Given the description of an element on the screen output the (x, y) to click on. 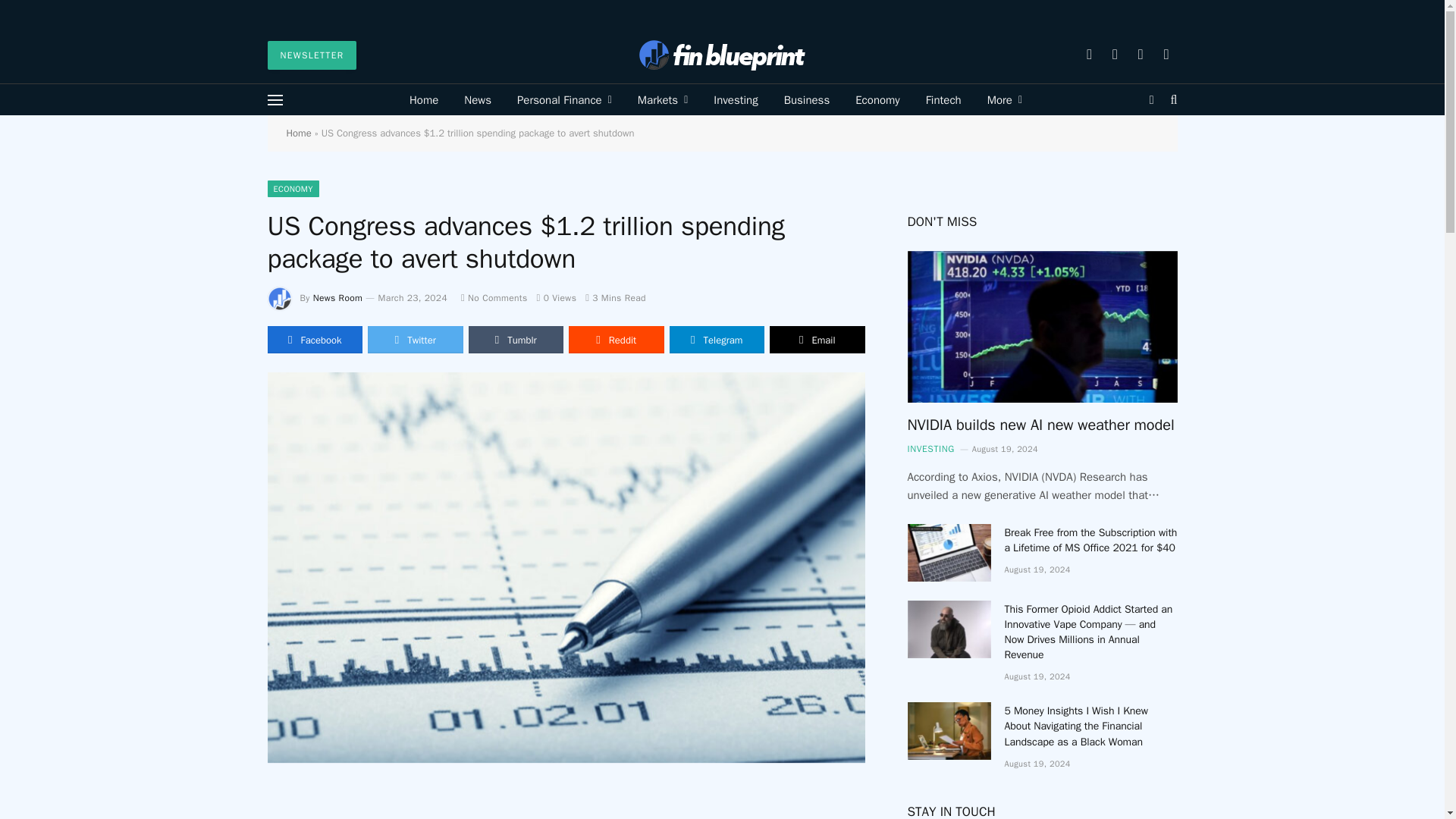
Fin Blueprint (722, 54)
Switch to Dark Design - easier on eyes. (1151, 100)
Posts by News Room (337, 297)
NEWSLETTER (311, 54)
